Given the description of an element on the screen output the (x, y) to click on. 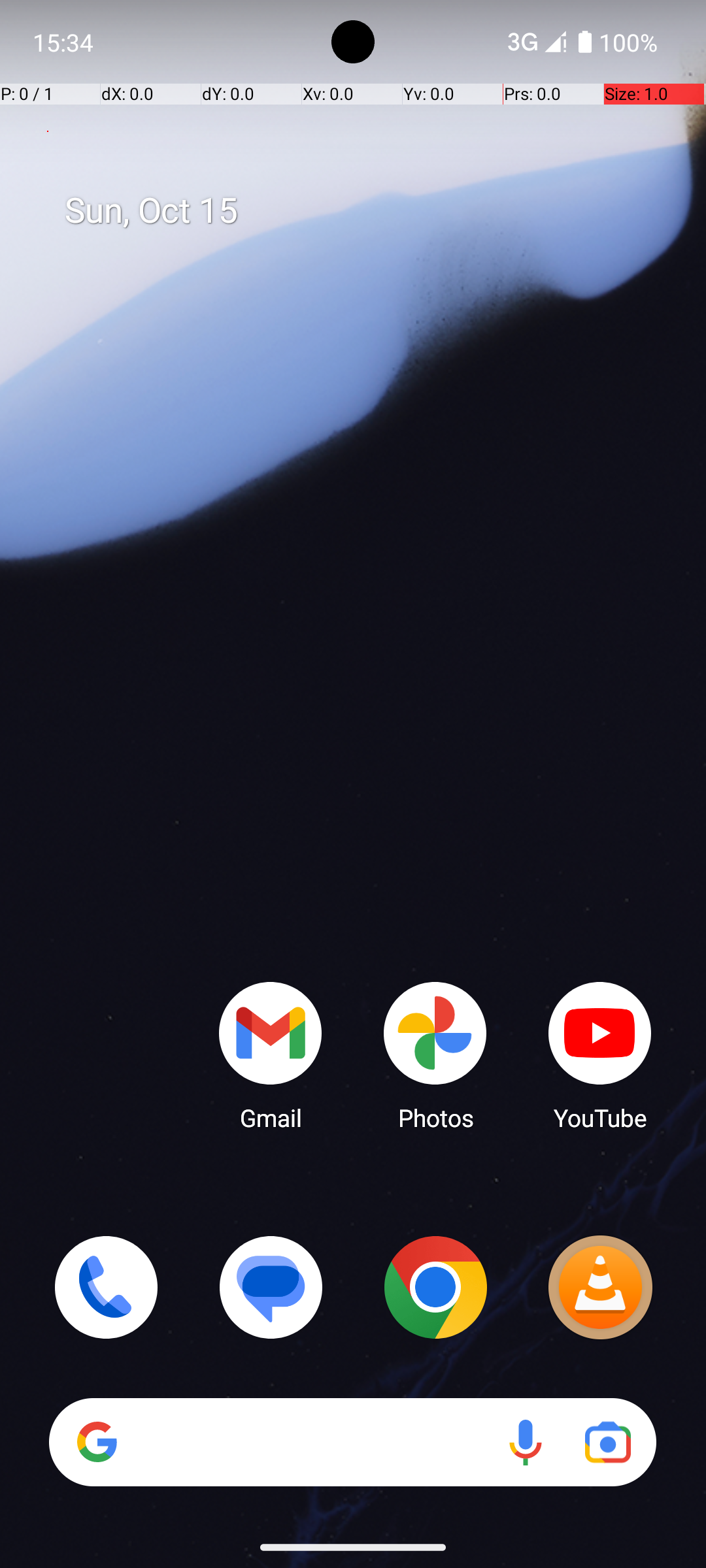
VLC Element type: android.widget.TextView (599, 1287)
